Given the description of an element on the screen output the (x, y) to click on. 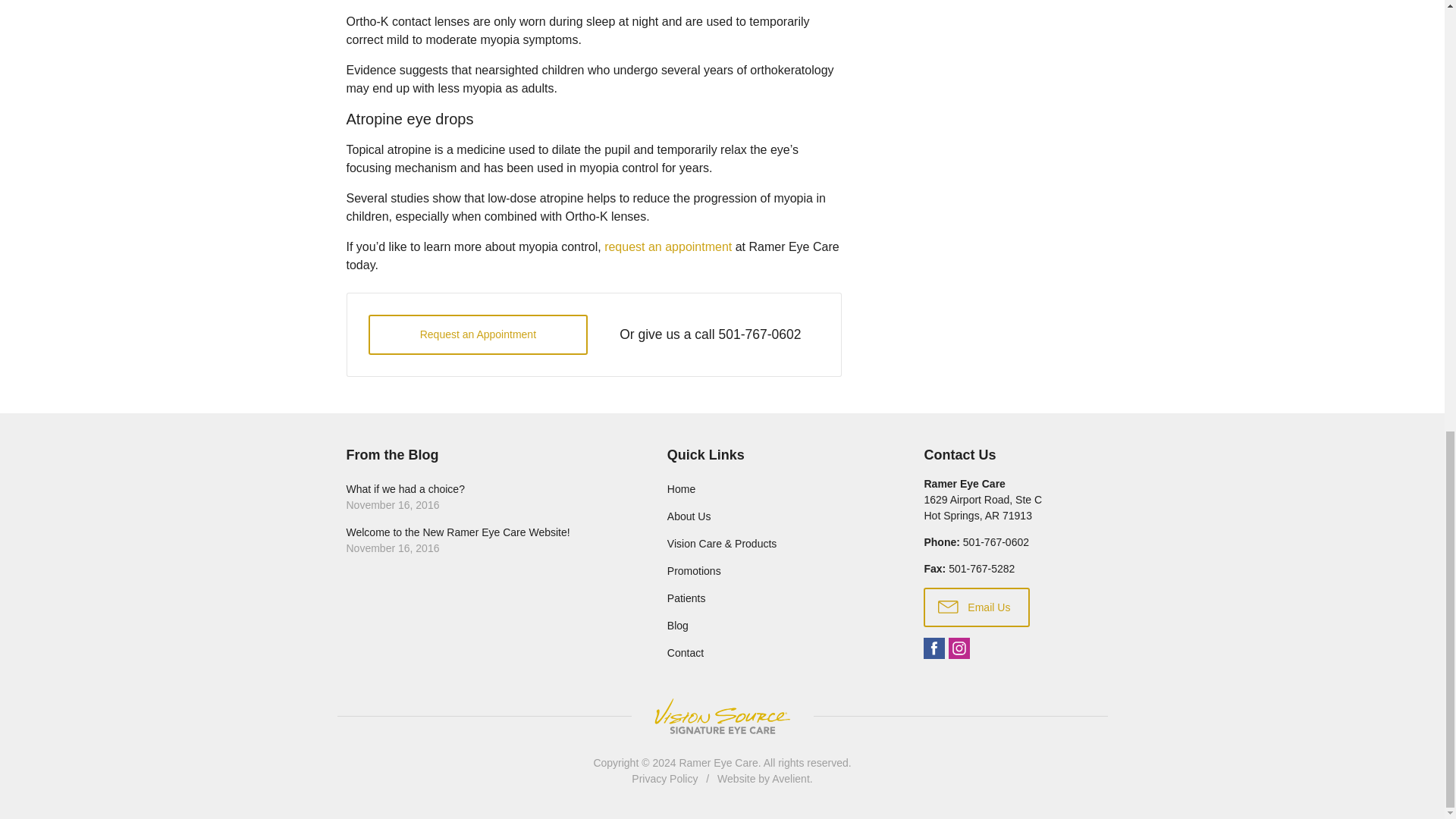
501-767-0602 (758, 334)
Request an Appointment (478, 334)
Go to our Facebook Page (933, 648)
Open this address in Google Maps (982, 507)
Request an Appointment (478, 334)
Contact practice (995, 541)
Powered by Avelient (790, 778)
Go to our Instagram Page (959, 648)
request an appointment (668, 246)
Call the practice (758, 334)
